Given the description of an element on the screen output the (x, y) to click on. 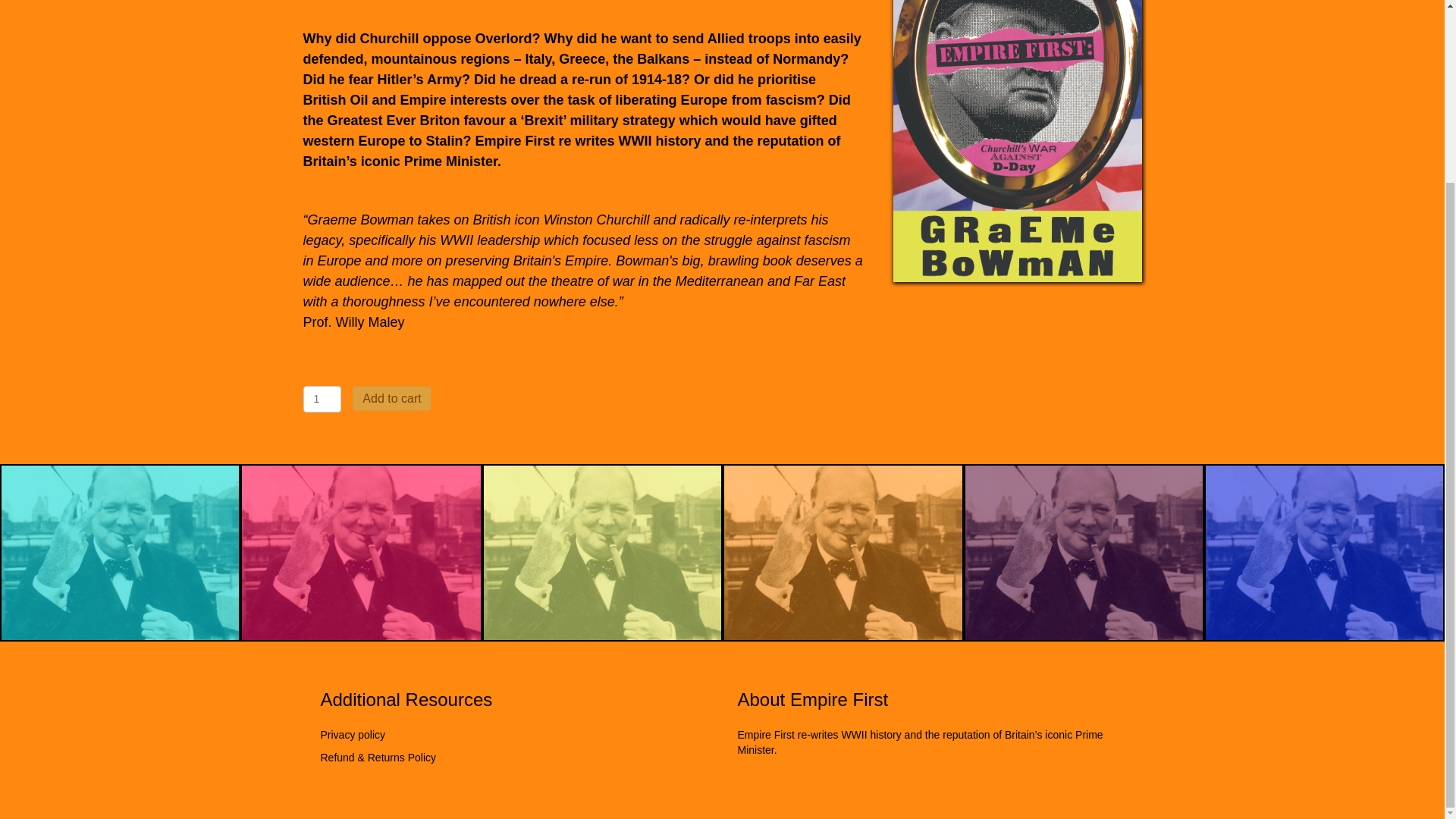
Add to cart (391, 398)
Privacy policy (352, 734)
1 (322, 398)
